Given the description of an element on the screen output the (x, y) to click on. 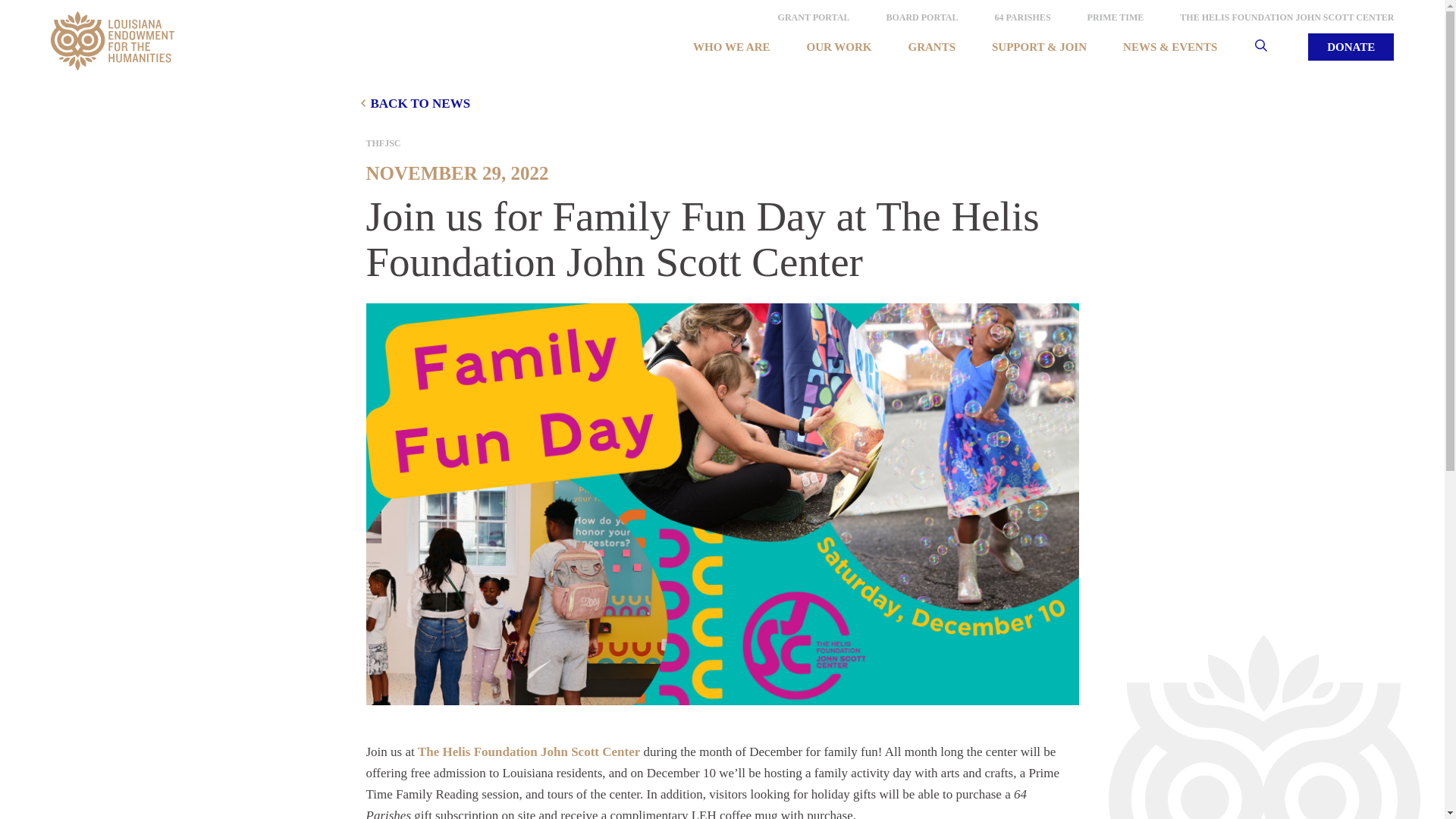
WHO WE ARE (731, 46)
BOARD PORTAL (921, 17)
64 PARISHES (1021, 17)
THE HELIS FOUNDATION JOHN SCOTT CENTER (1286, 17)
GRANTS (931, 46)
PRIME TIME (1115, 17)
BACK TO NEWS (721, 103)
The Helis Foundation John Scott Center (528, 751)
GRANT PORTAL (813, 17)
DONATE (1350, 46)
OUR WORK (839, 46)
THFJSC (721, 143)
SEARCH (1277, 46)
